Given the description of an element on the screen output the (x, y) to click on. 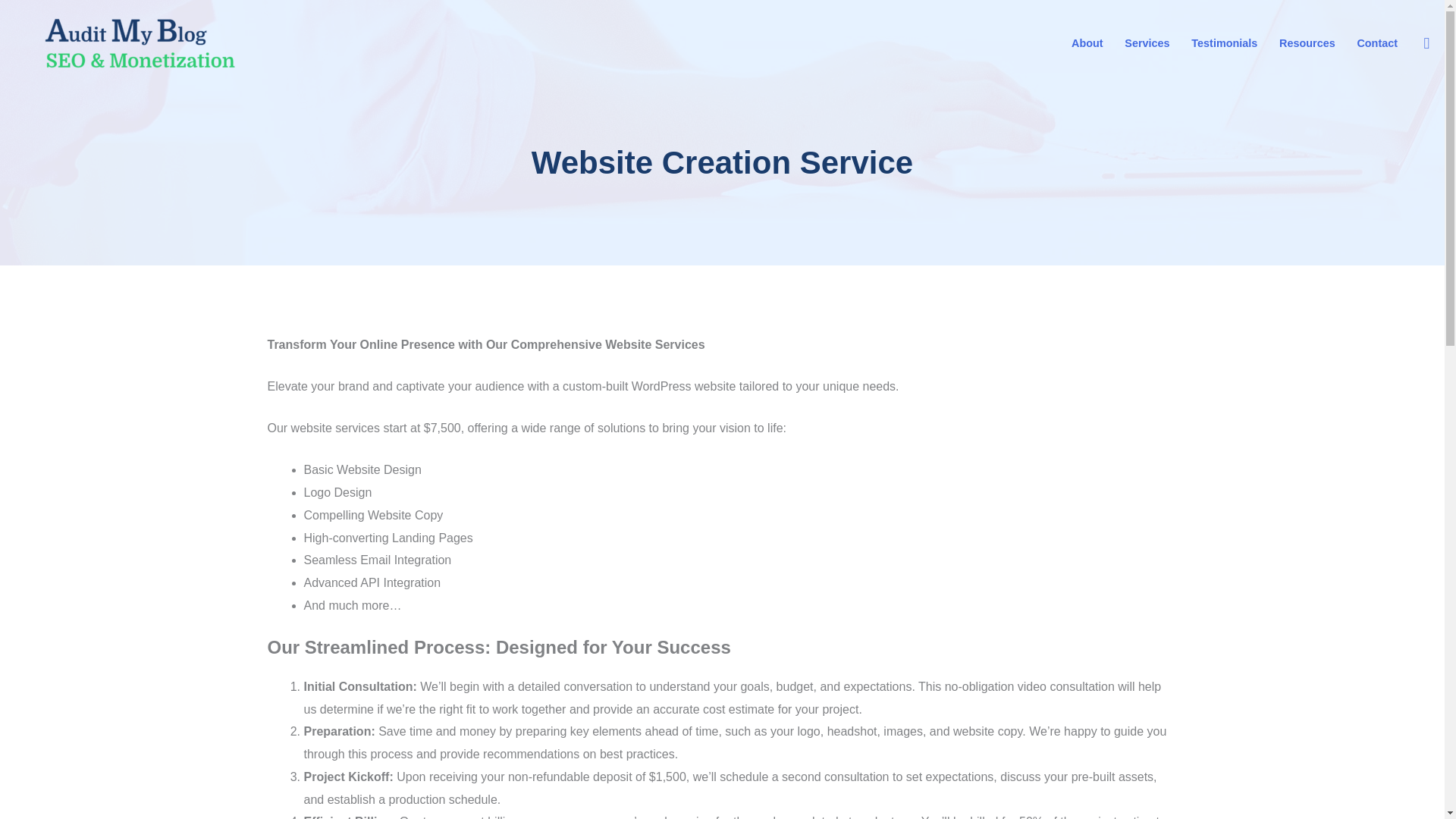
Testimonials (1224, 43)
Resources (1306, 43)
Contact (1376, 43)
Services (1146, 43)
About (1087, 43)
